Given the description of an element on the screen output the (x, y) to click on. 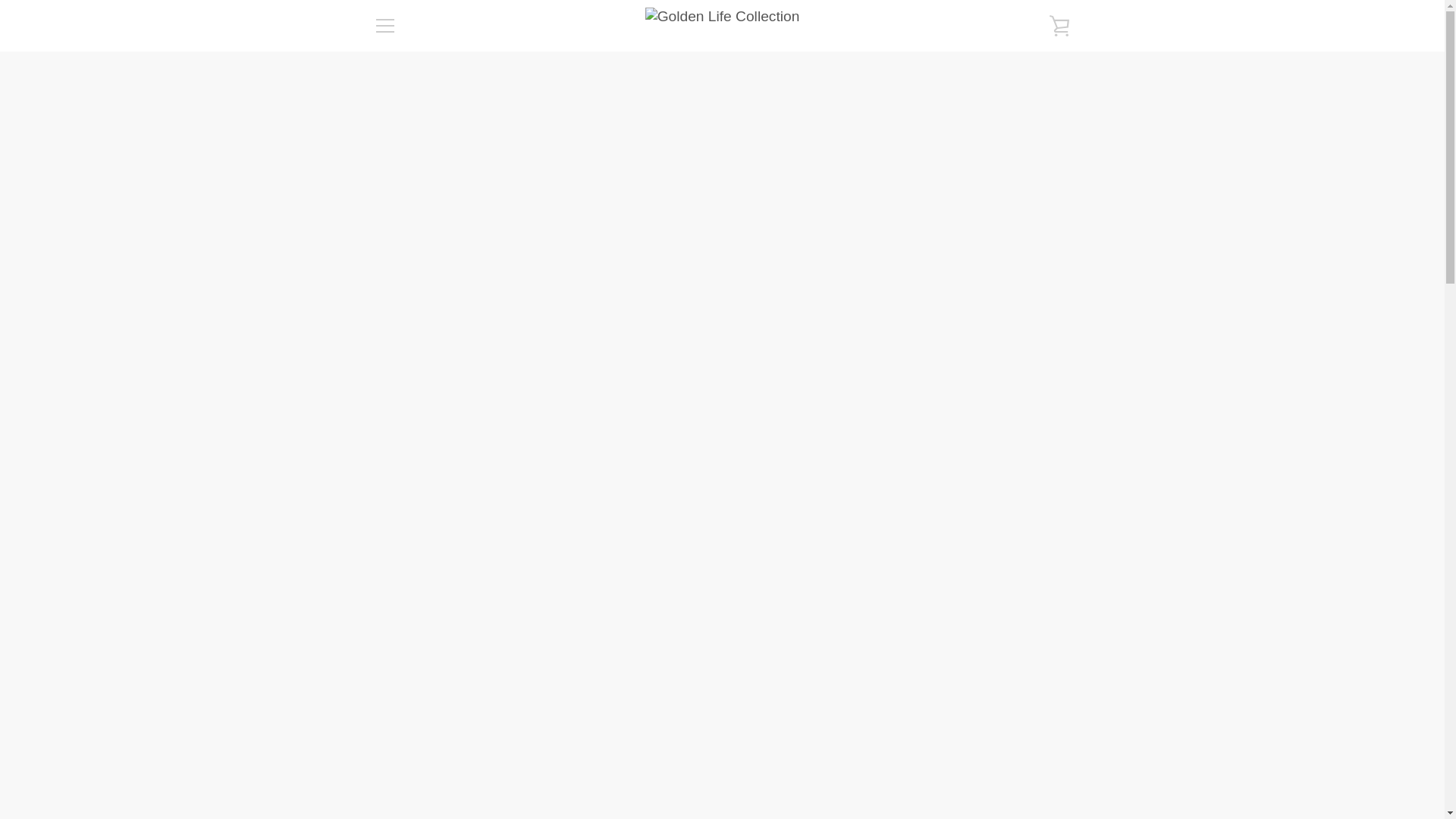
EXPAND NAVIGATION (384, 25)
VIEW CART (1059, 25)
